Given the description of an element on the screen output the (x, y) to click on. 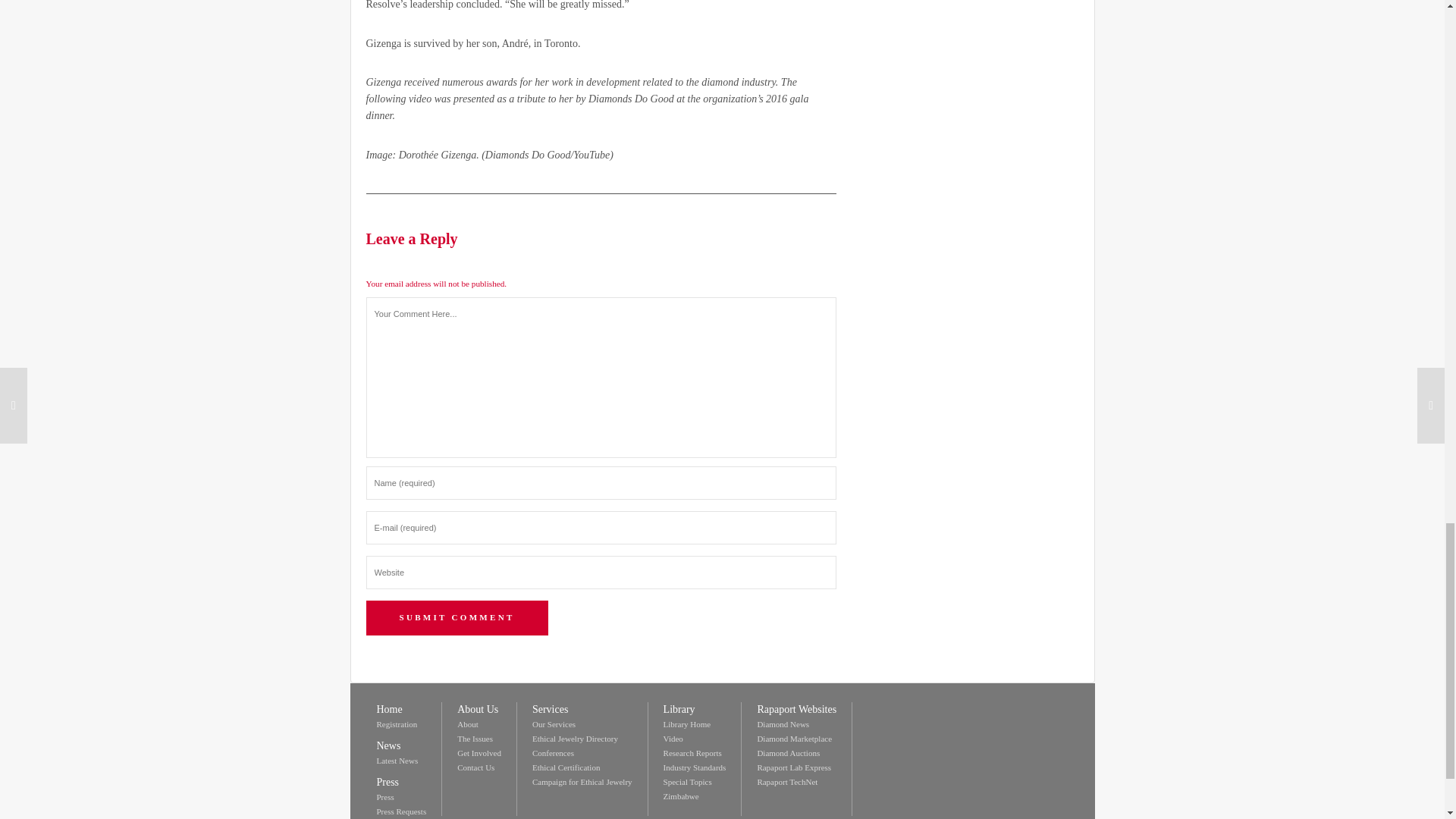
Registration (395, 723)
Press (384, 796)
Latest News (396, 759)
Submit Comment (456, 617)
Submit Comment (456, 617)
Twitter Follow Button (946, 710)
Press Requests (400, 810)
